Given the description of an element on the screen output the (x, y) to click on. 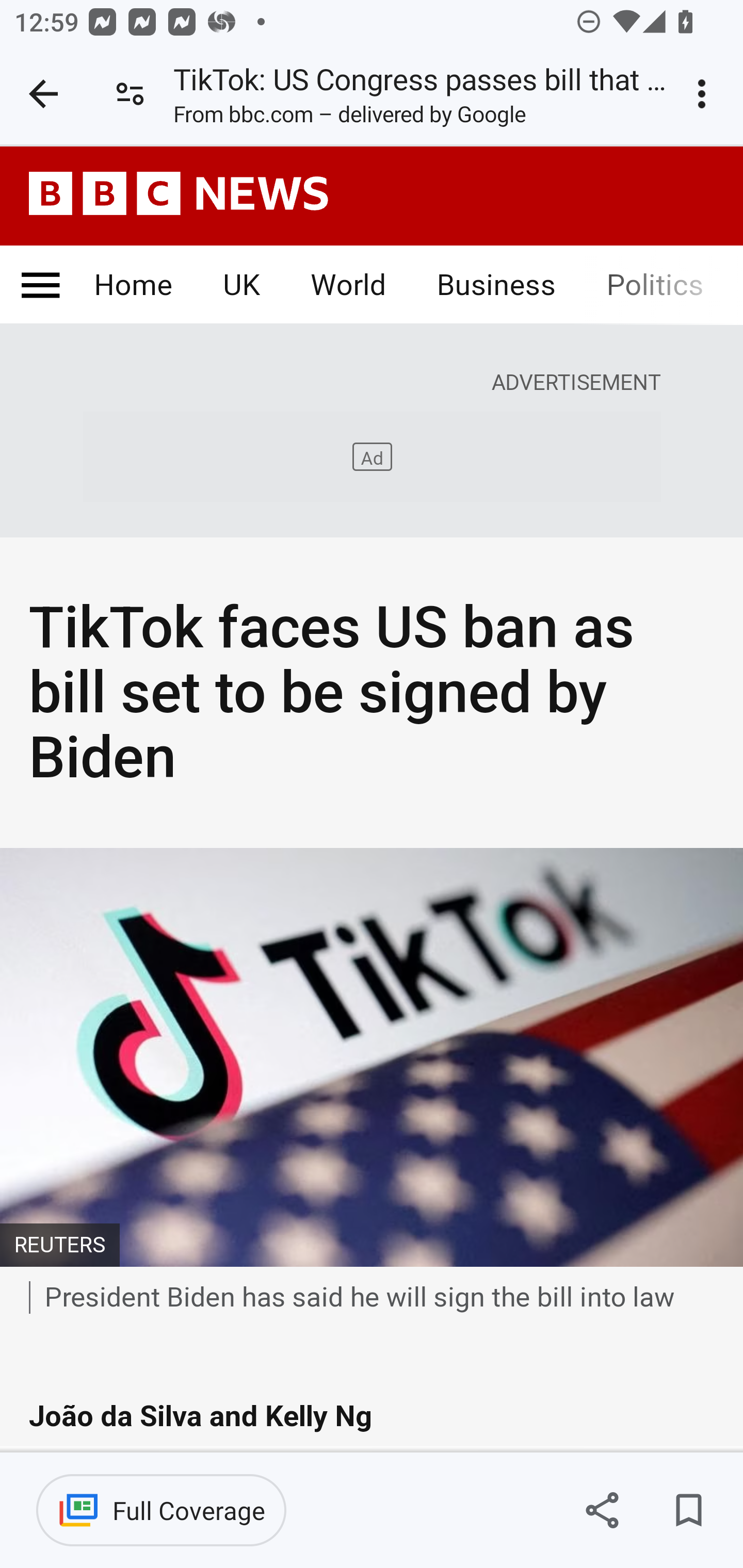
Close tab (43, 93)
Customize and control Google Chrome (705, 93)
Connection is secure (129, 93)
From bbc.com – delivered by Google (349, 117)
BBC News (178, 193)
Sections (40, 286)
Home (133, 286)
UK (240, 286)
World (349, 286)
Business (495, 286)
Politics (653, 286)
Full Coverage (161, 1509)
Share (601, 1510)
Save for later (688, 1510)
